Given the description of an element on the screen output the (x, y) to click on. 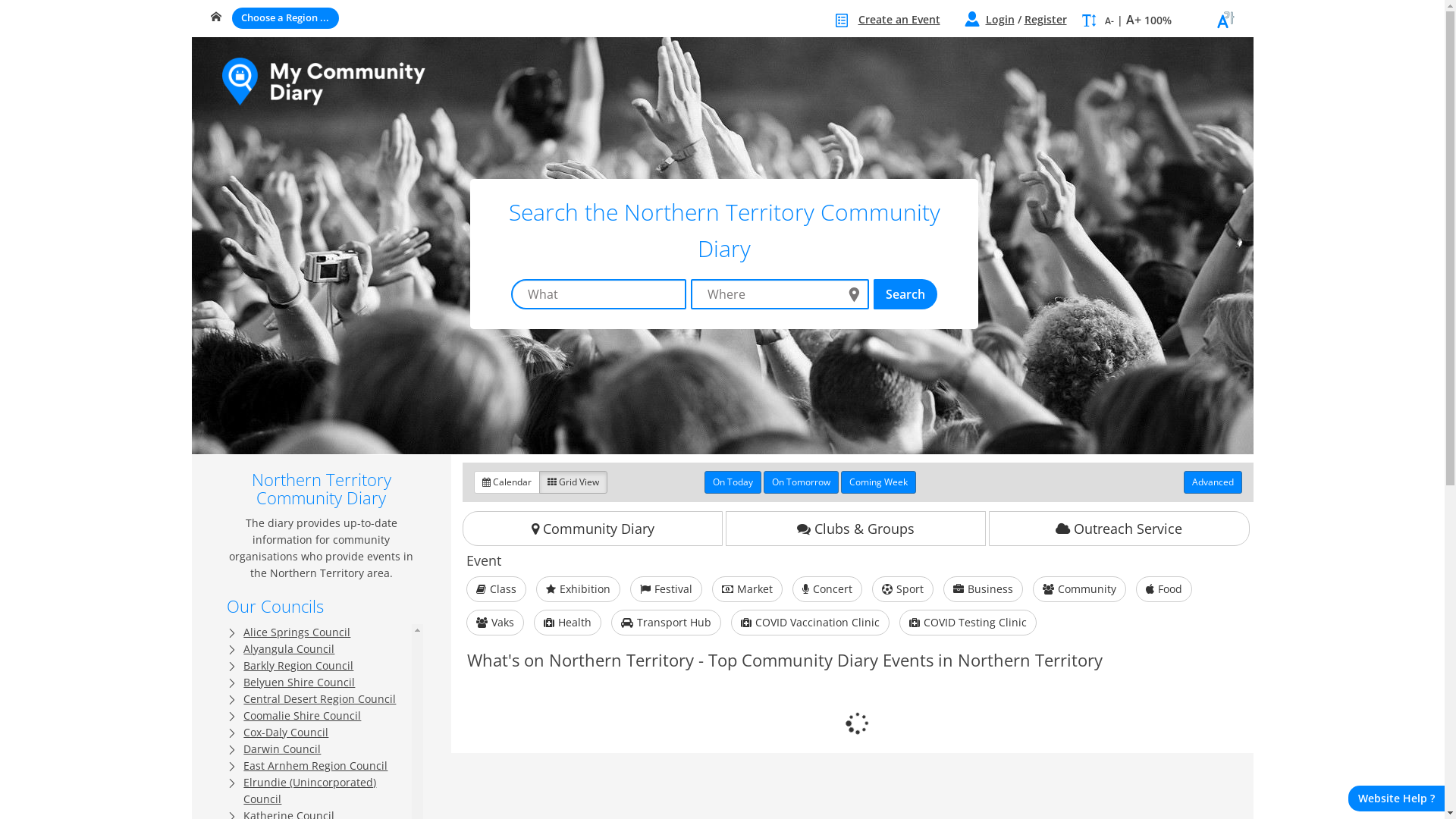
A- Element type: text (1108, 20)
Alyangula Council Element type: text (288, 648)
Grid View Element type: text (573, 481)
On Today Element type: text (732, 481)
100% Element type: text (1156, 19)
Register Element type: text (1044, 19)
Sport Element type: text (902, 589)
Choose a Region ... Element type: text (285, 17)
Belyuen Shire Council Element type: text (298, 681)
Website Help ? Element type: text (1396, 798)
COVID Testing Clinic Element type: text (967, 622)
Transport Hub Element type: text (666, 622)
Community Diary Element type: text (592, 528)
East Arnhem Region Council Element type: text (315, 765)
Darwin Council Element type: text (281, 748)
Share this page Element type: hover (1224, 26)
Elrundie (Unincorporated) Council Element type: text (309, 790)
Business Element type: text (982, 589)
Coomalie Shire Council Element type: text (301, 715)
Calendar Element type: text (506, 481)
Health Element type: text (567, 622)
COVID Vaccination Clinic Element type: text (810, 622)
Concert Element type: text (827, 589)
Exhibition Element type: text (578, 589)
Alice Springs Council Element type: text (296, 631)
Advanced Element type: text (1212, 481)
Market Element type: text (747, 589)
Cox-Daly Council Element type: text (285, 731)
Vaks Element type: text (495, 622)
Login Element type: text (999, 19)
A+ Element type: text (1132, 19)
Barkly Region Council Element type: text (298, 665)
Festival Element type: text (666, 589)
Class Element type: text (496, 589)
Community Element type: text (1079, 589)
My Community Diary Element type: text (338, 85)
Central Desert Region Council Element type: text (319, 698)
Clubs & Groups Element type: text (855, 528)
Outreach Service Element type: text (1118, 528)
Coming Week Element type: text (878, 481)
On Tomorrow Element type: text (800, 481)
Food Element type: text (1163, 589)
Search Element type: text (905, 294)
Create an Event Element type: text (899, 19)
